Given the description of an element on the screen output the (x, y) to click on. 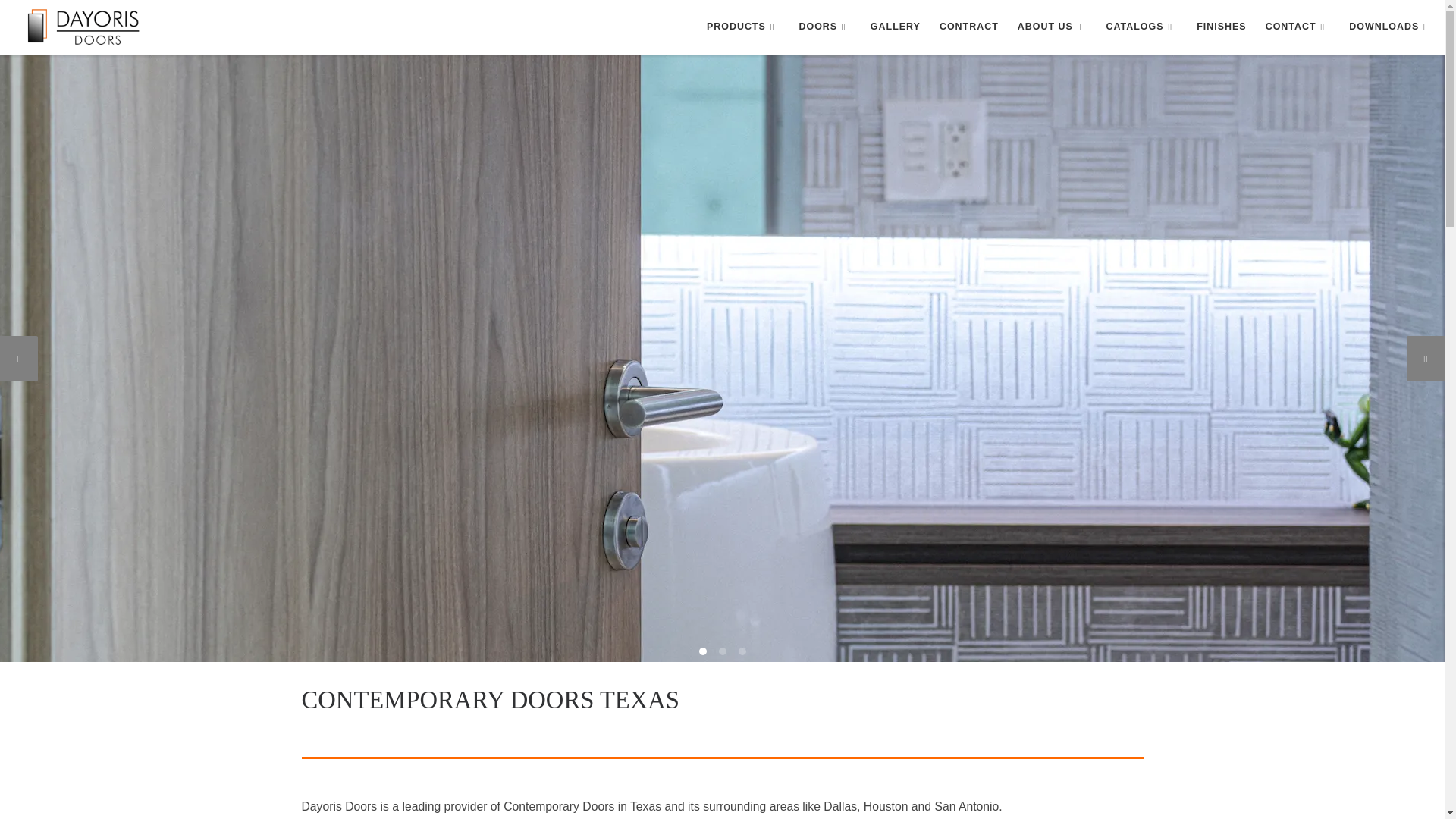
DOORS (824, 26)
CONTACT (1297, 26)
FINISHES (1221, 26)
CATALOGS (1141, 26)
CONTRACT (968, 26)
Skip to content (56, 19)
PRODUCTS (742, 26)
GALLERY (896, 26)
ABOUT US (1052, 26)
